Given the description of an element on the screen output the (x, y) to click on. 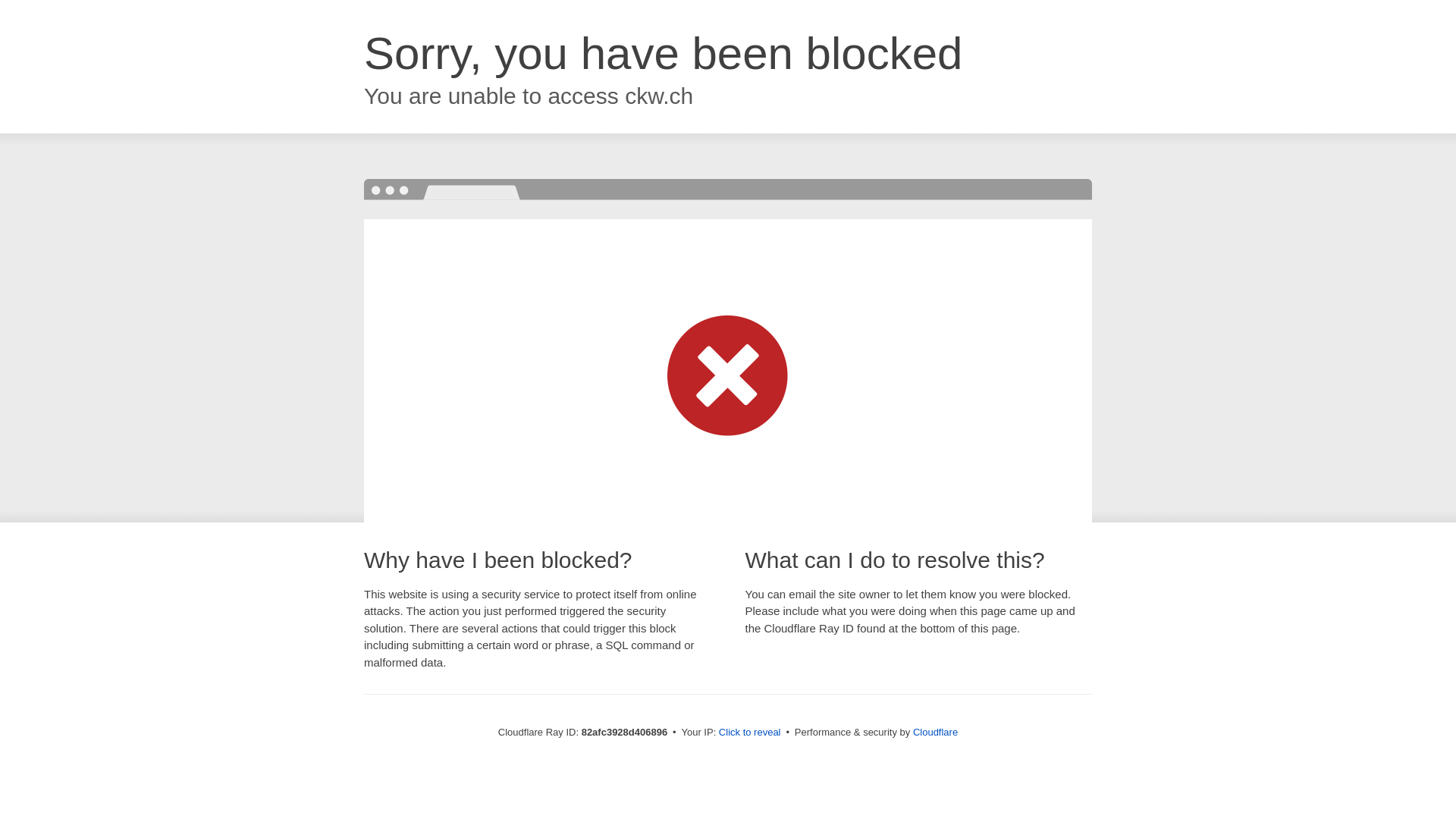
Cloudflare Element type: text (935, 731)
Click to reveal Element type: text (749, 732)
